Given the description of an element on the screen output the (x, y) to click on. 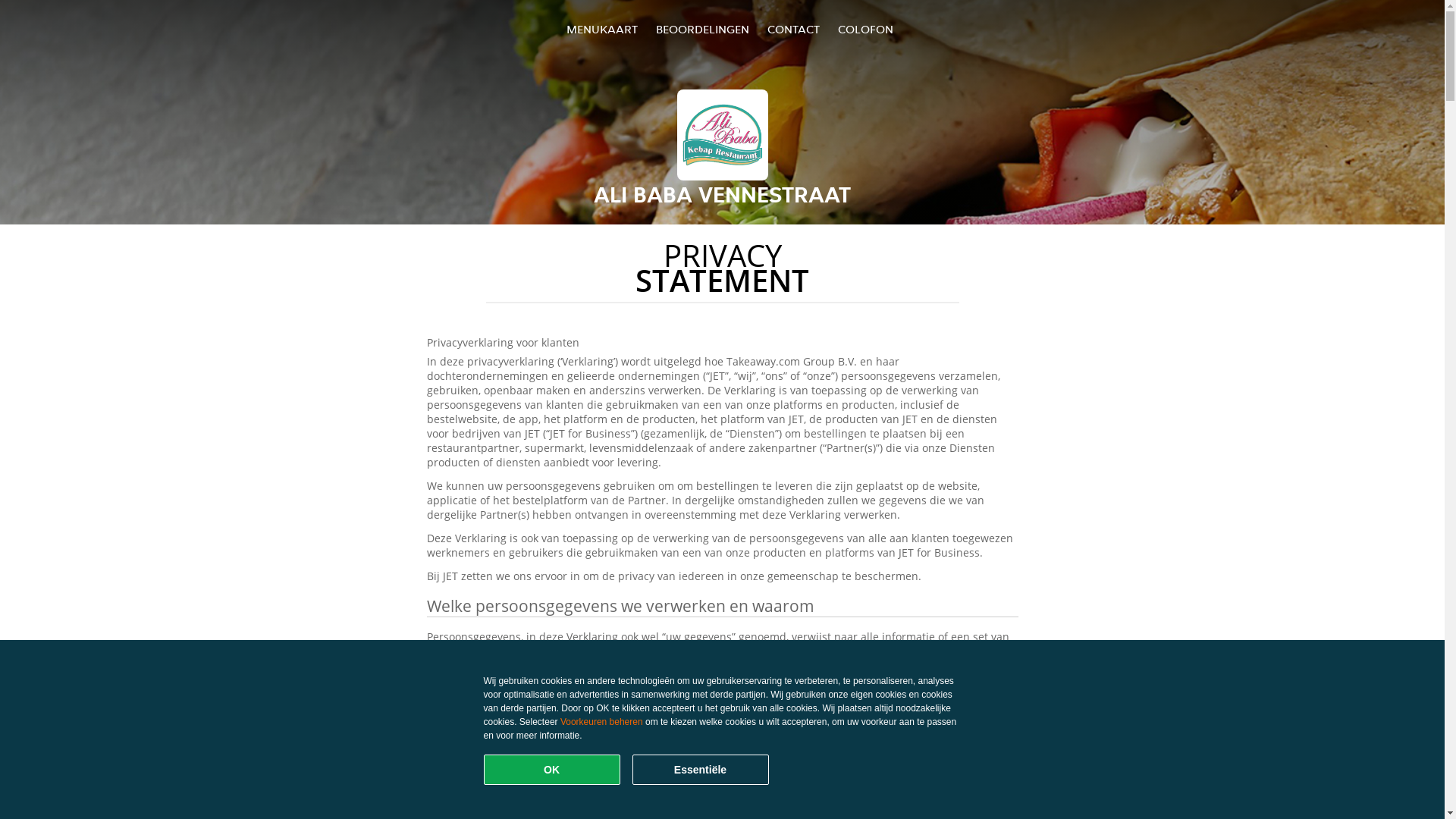
OK Element type: text (551, 769)
COLOFON Element type: text (865, 29)
Voorkeuren beheren Element type: text (601, 721)
MENUKAART Element type: text (601, 29)
BEOORDELINGEN Element type: text (702, 29)
CONTACT Element type: text (793, 29)
